Given the description of an element on the screen output the (x, y) to click on. 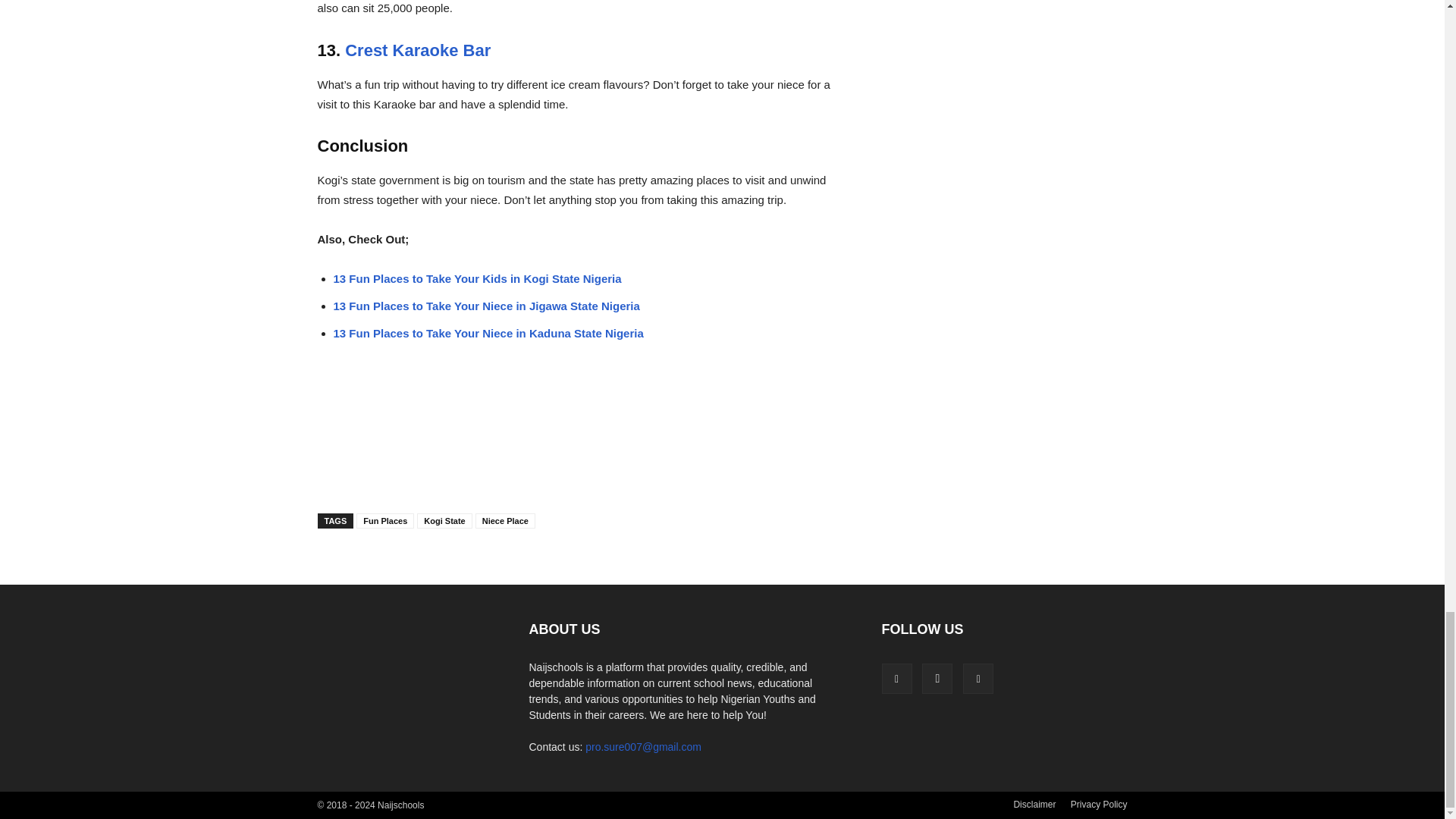
Instagram (936, 678)
Facebook (895, 678)
13 Fun Places to Take Your Kids in Kogi State Nigeria (477, 278)
Twitter (977, 678)
13 Fun Places to Take Your Niece in Kaduna State Nigeria (488, 332)
13 Fun Places to Take Your Niece in Jigawa State Nigeria (486, 305)
